Given the description of an element on the screen output the (x, y) to click on. 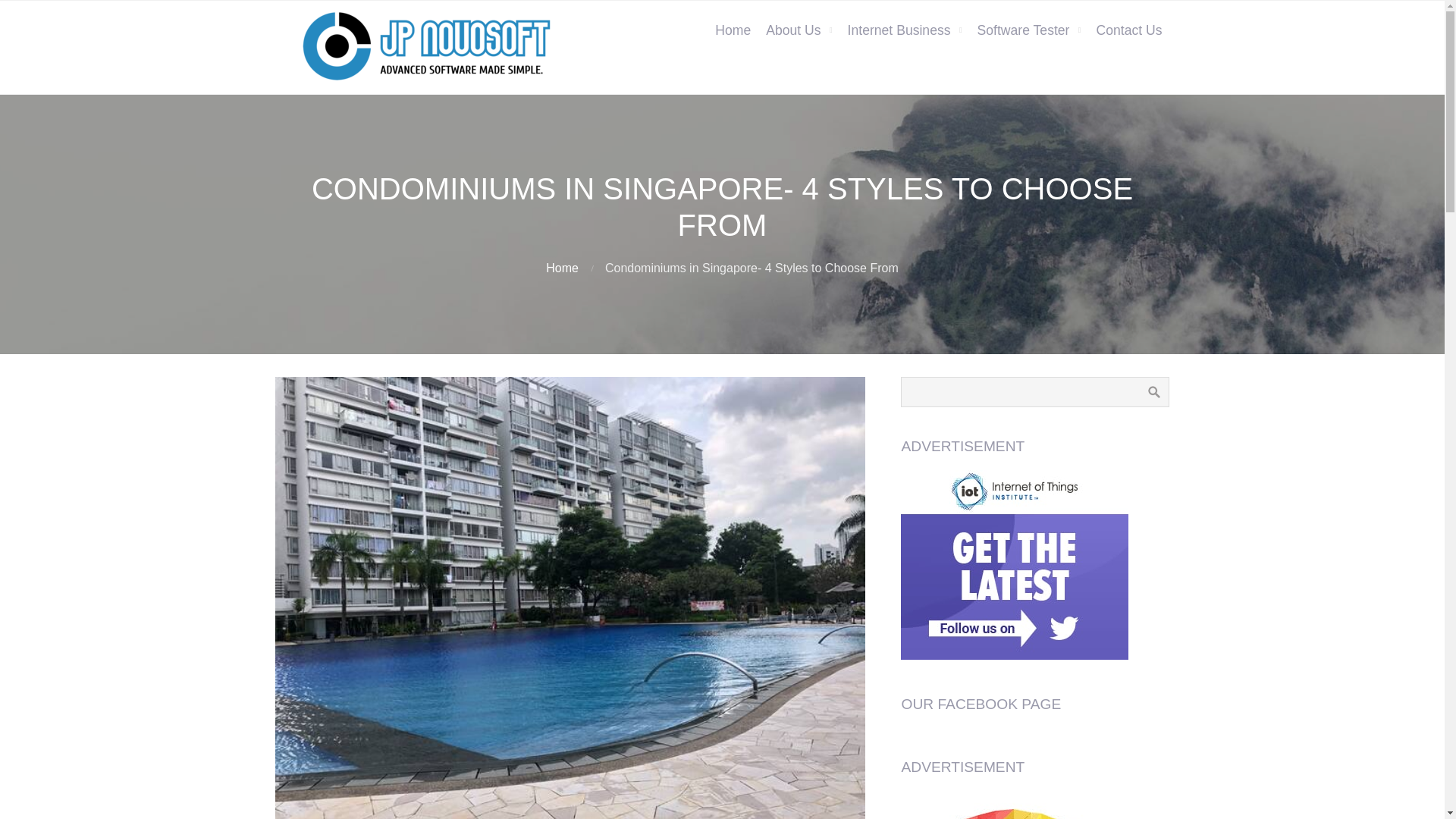
Internet Business (904, 30)
Home (732, 30)
Contact Us (1128, 30)
Software Tester (1029, 30)
Home (562, 267)
About Us (799, 30)
Search (1153, 391)
